Given the description of an element on the screen output the (x, y) to click on. 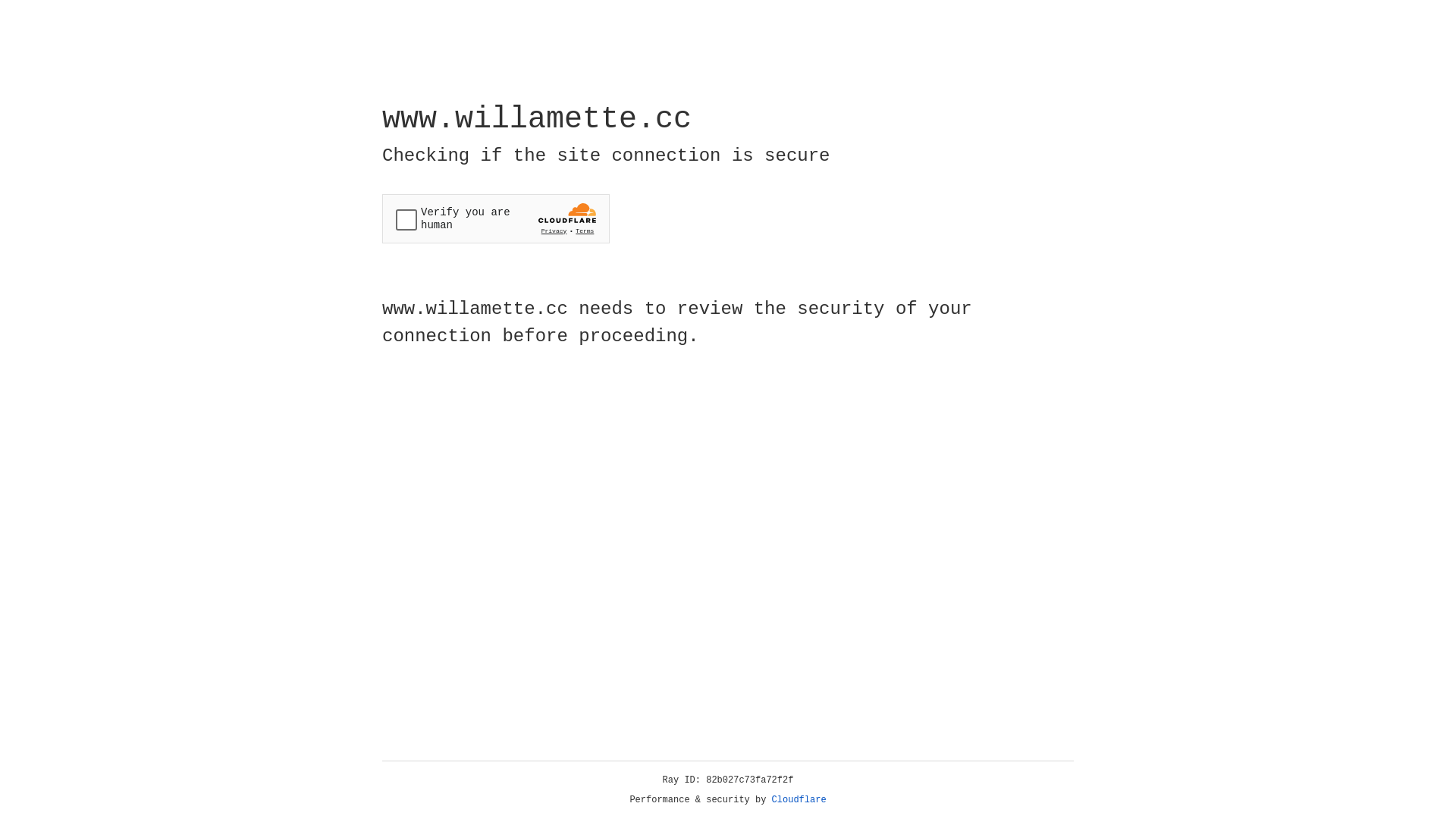
Widget containing a Cloudflare security challenge Element type: hover (495, 218)
Cloudflare Element type: text (798, 799)
